Given the description of an element on the screen output the (x, y) to click on. 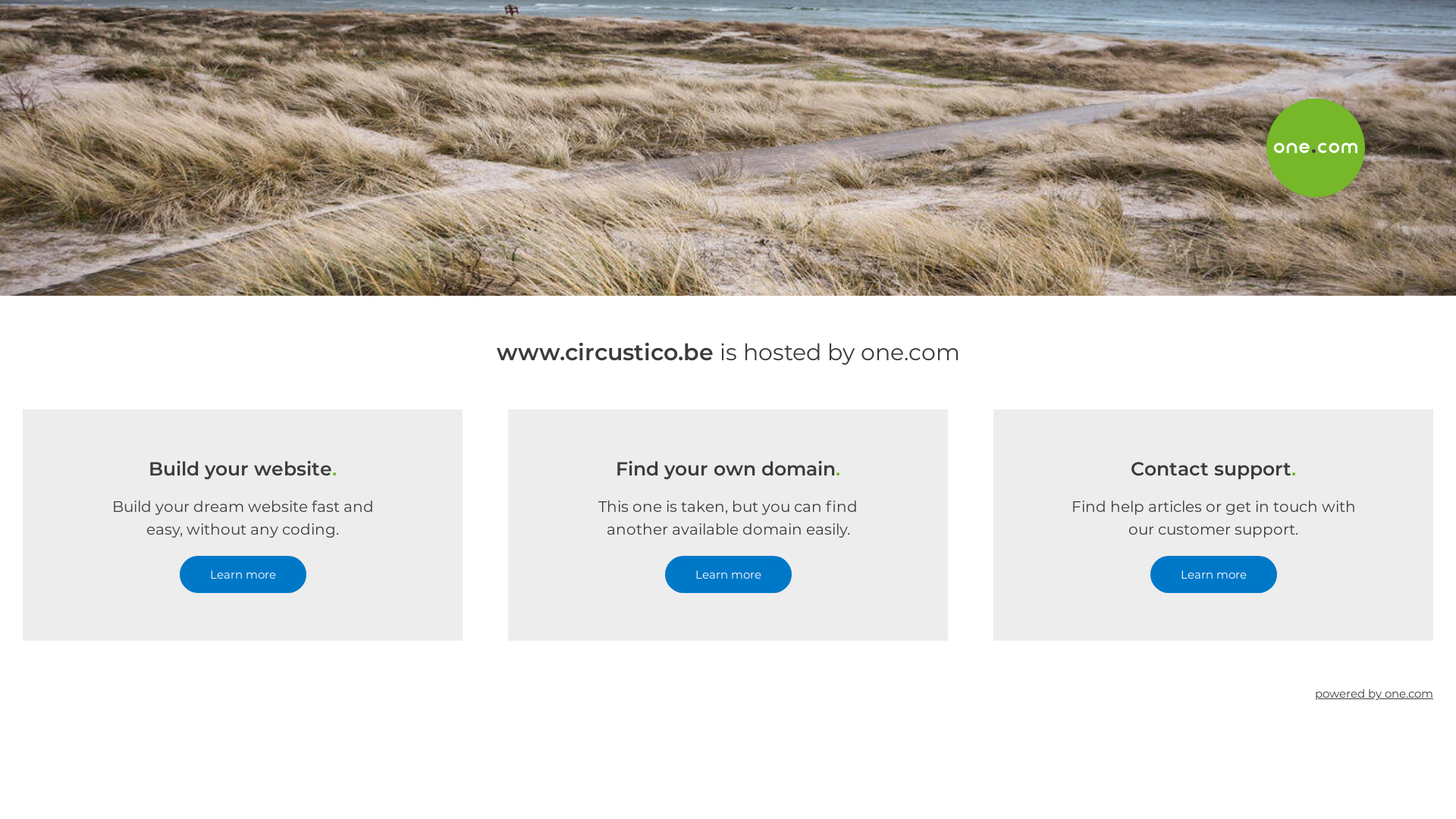
Learn more Element type: text (1212, 574)
powered by one.com Element type: text (1373, 693)
Learn more Element type: text (241, 574)
Learn more Element type: text (727, 574)
